Given the description of an element on the screen output the (x, y) to click on. 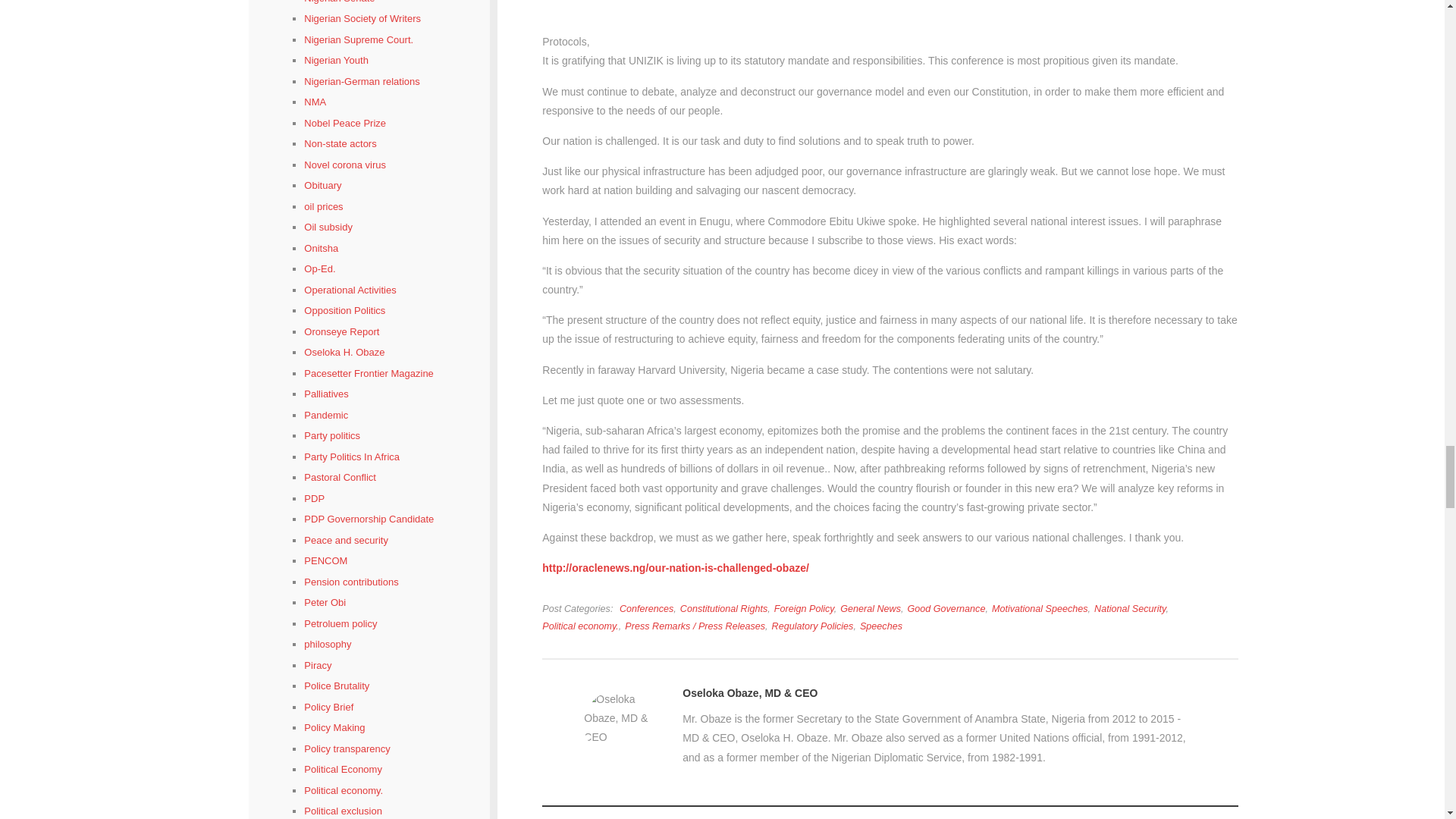
Regulatory Policies (812, 625)
Conferences (646, 608)
General News (870, 608)
National Security (1130, 608)
Constitutional Rights (723, 608)
Speeches (881, 625)
Foreign Policy (804, 608)
Political economy. (579, 625)
Good Governance (946, 608)
Motivational Speeches (1039, 608)
